Given the description of an element on the screen output the (x, y) to click on. 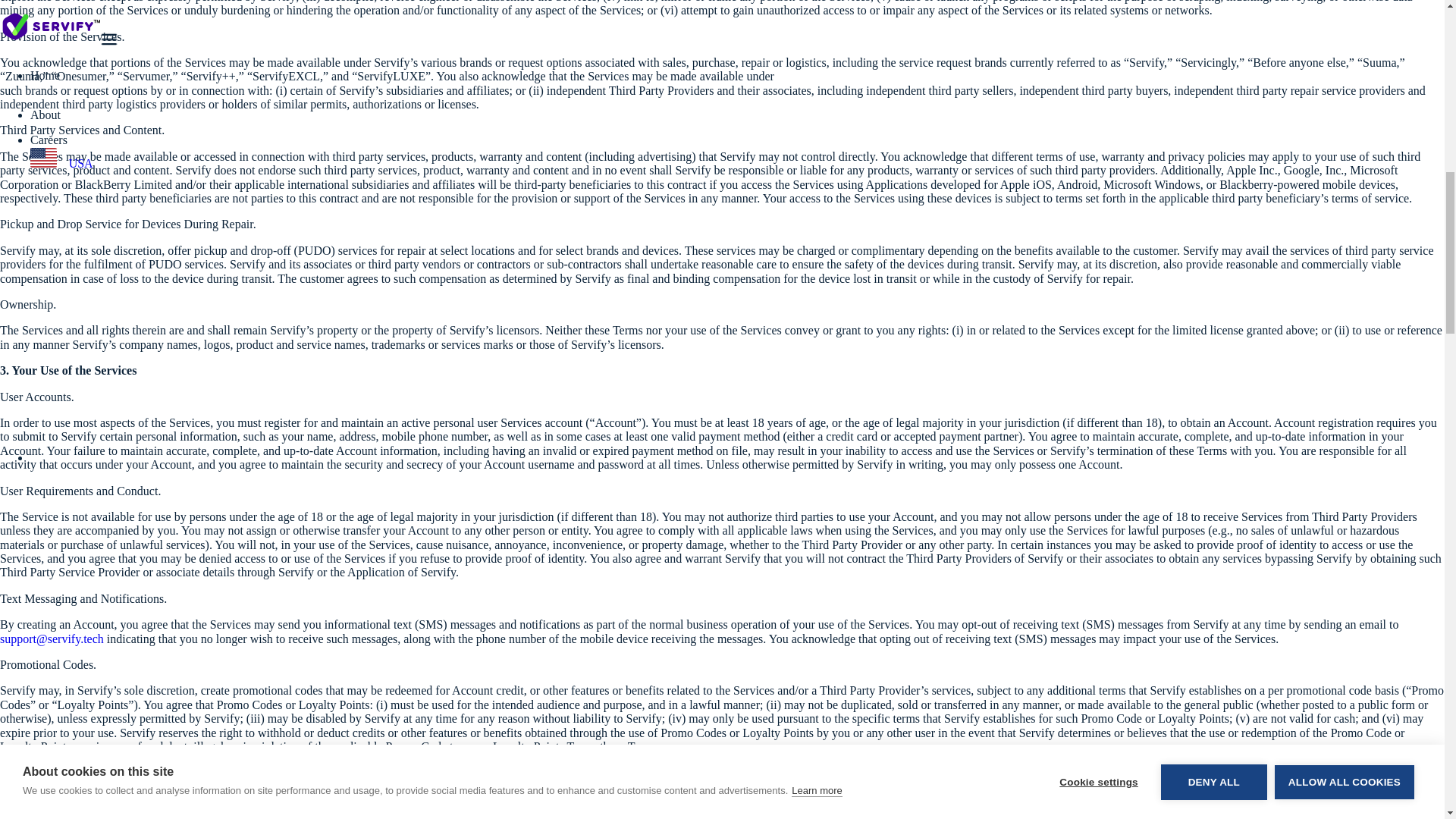
Learn more (816, 1)
